Given the description of an element on the screen output the (x, y) to click on. 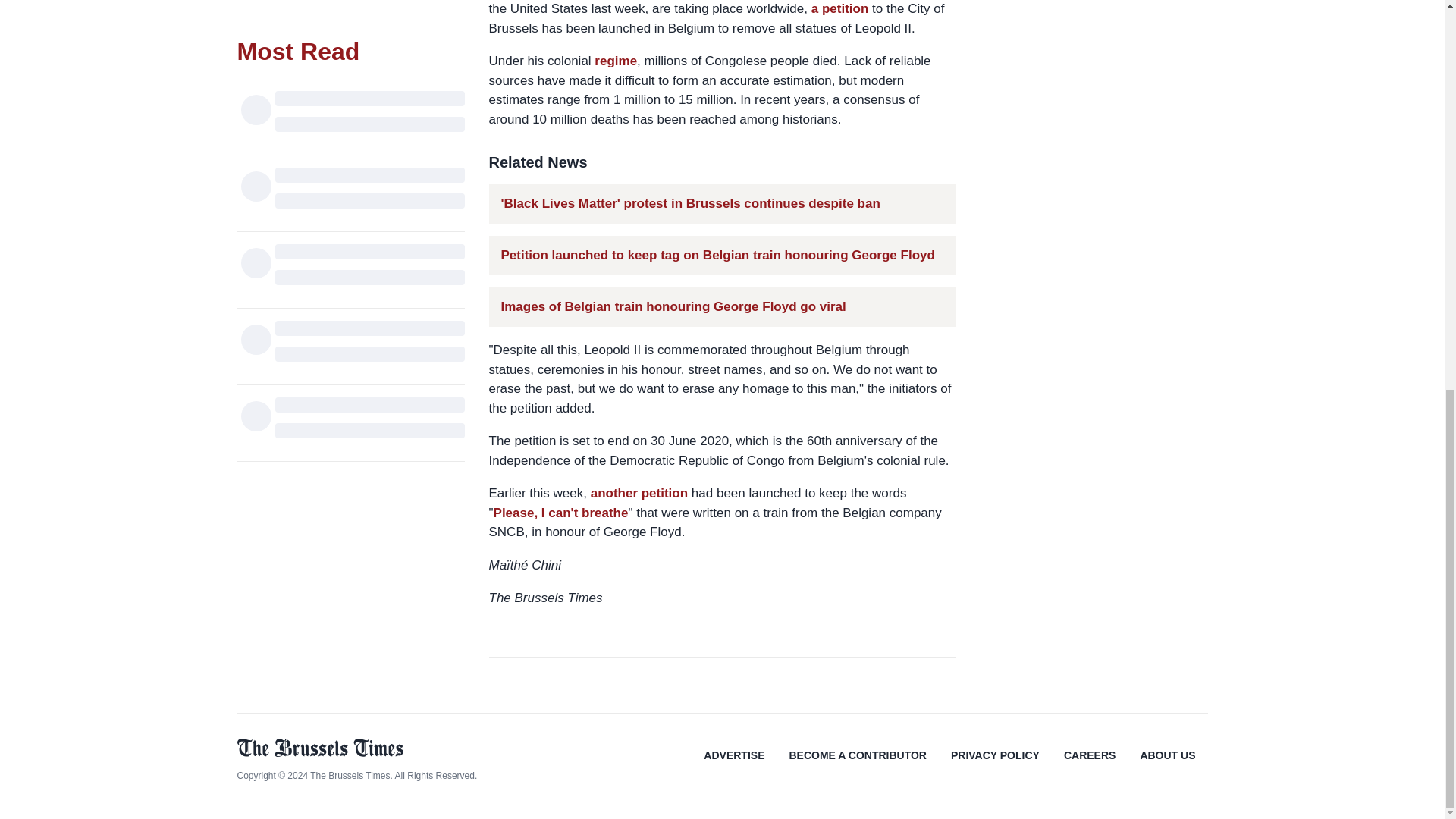
PRIVACY POLICY (995, 766)
Please, I can't breathe (560, 513)
BECOME A CONTRIBUTOR (856, 766)
Images of Belgian train honouring George Floyd go viral (672, 306)
a petition (839, 8)
regime (615, 60)
another petition (639, 493)
ABOUT US (1166, 766)
